Given the description of an element on the screen output the (x, y) to click on. 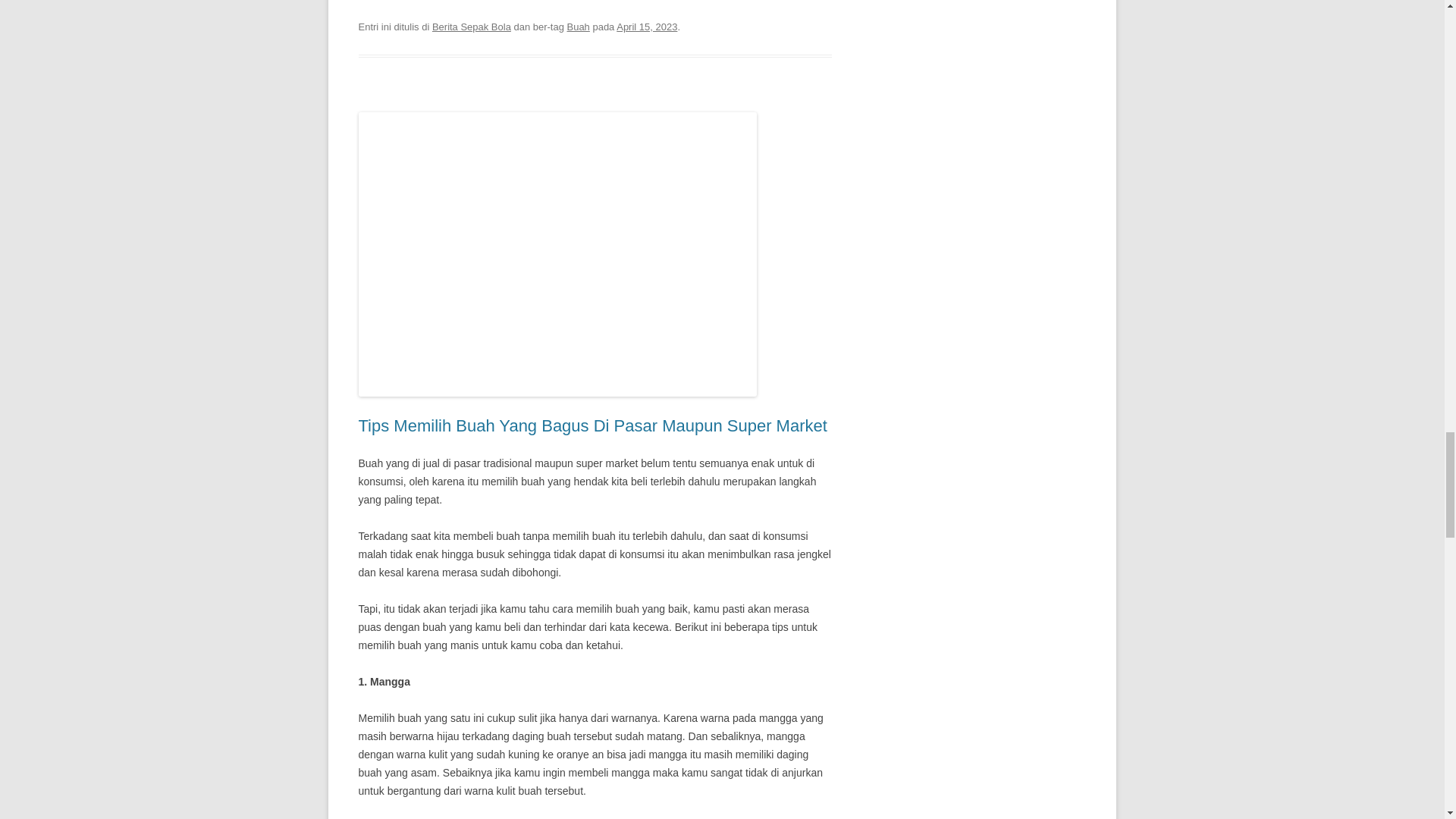
4:18 am (646, 26)
Tips Memilih Buah Yang Bagus Di Pasar Maupun Super Market (592, 425)
April 15, 2023 (646, 26)
Buah (578, 26)
Berita Sepak Bola (471, 26)
